Given the description of an element on the screen output the (x, y) to click on. 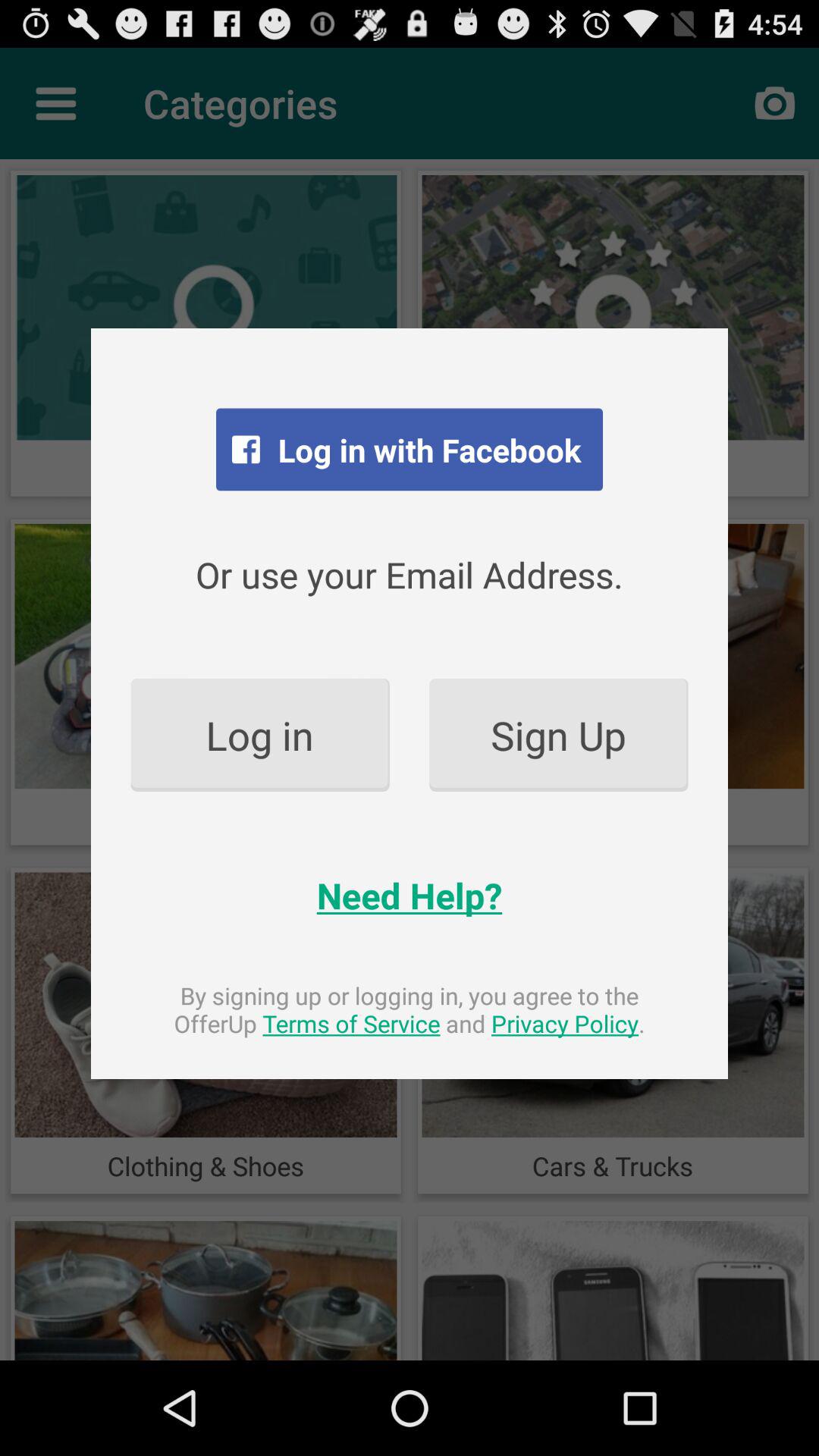
press need help? item (409, 895)
